Given the description of an element on the screen output the (x, y) to click on. 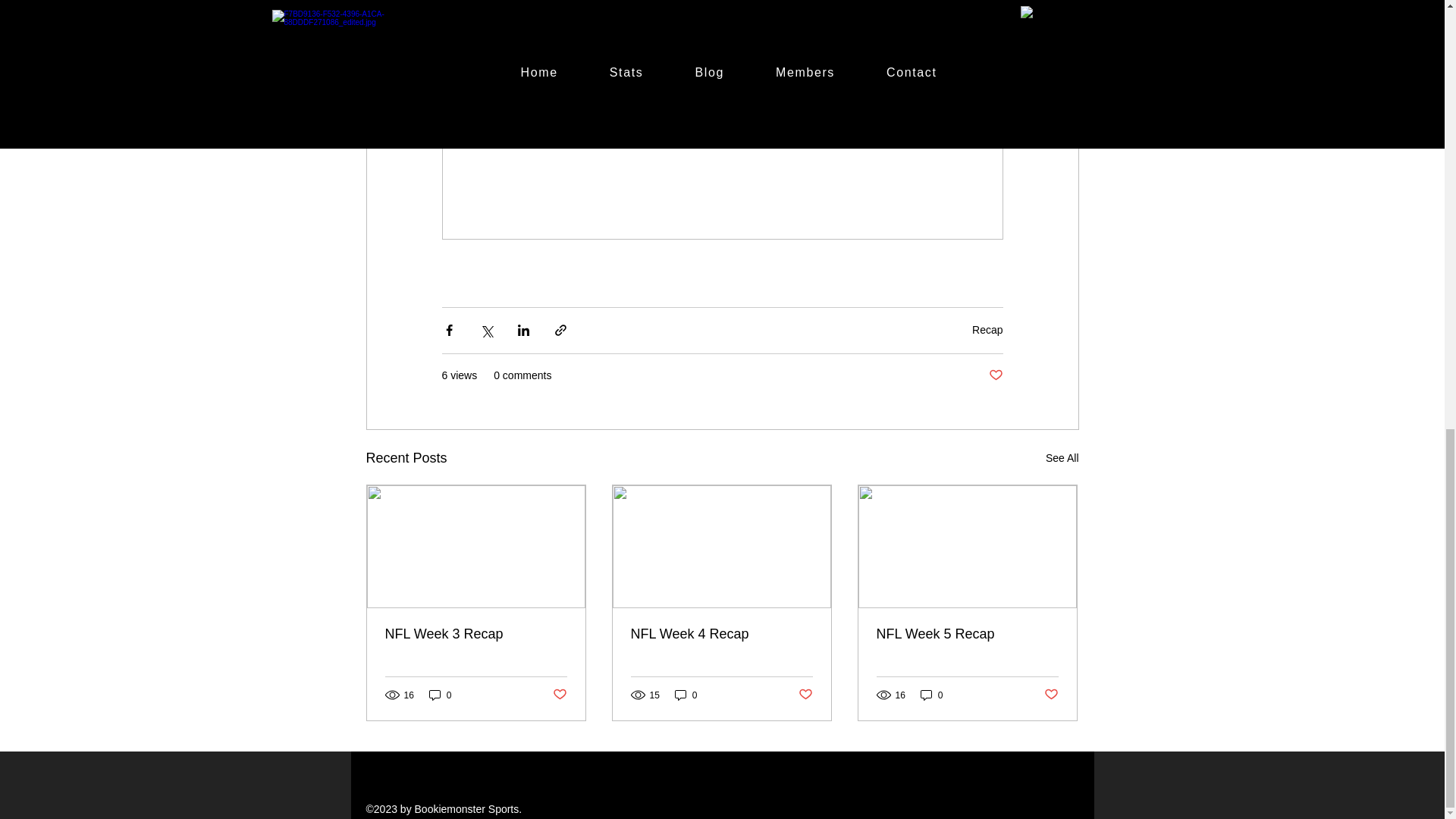
See All (1061, 458)
0 (931, 694)
NFL Week 3 Recap (476, 634)
NFL Week 5 Recap (967, 634)
0 (685, 694)
Post not marked as liked (558, 694)
Post not marked as liked (1050, 694)
Post not marked as liked (995, 375)
Post not marked as liked (804, 694)
0 (440, 694)
